Given the description of an element on the screen output the (x, y) to click on. 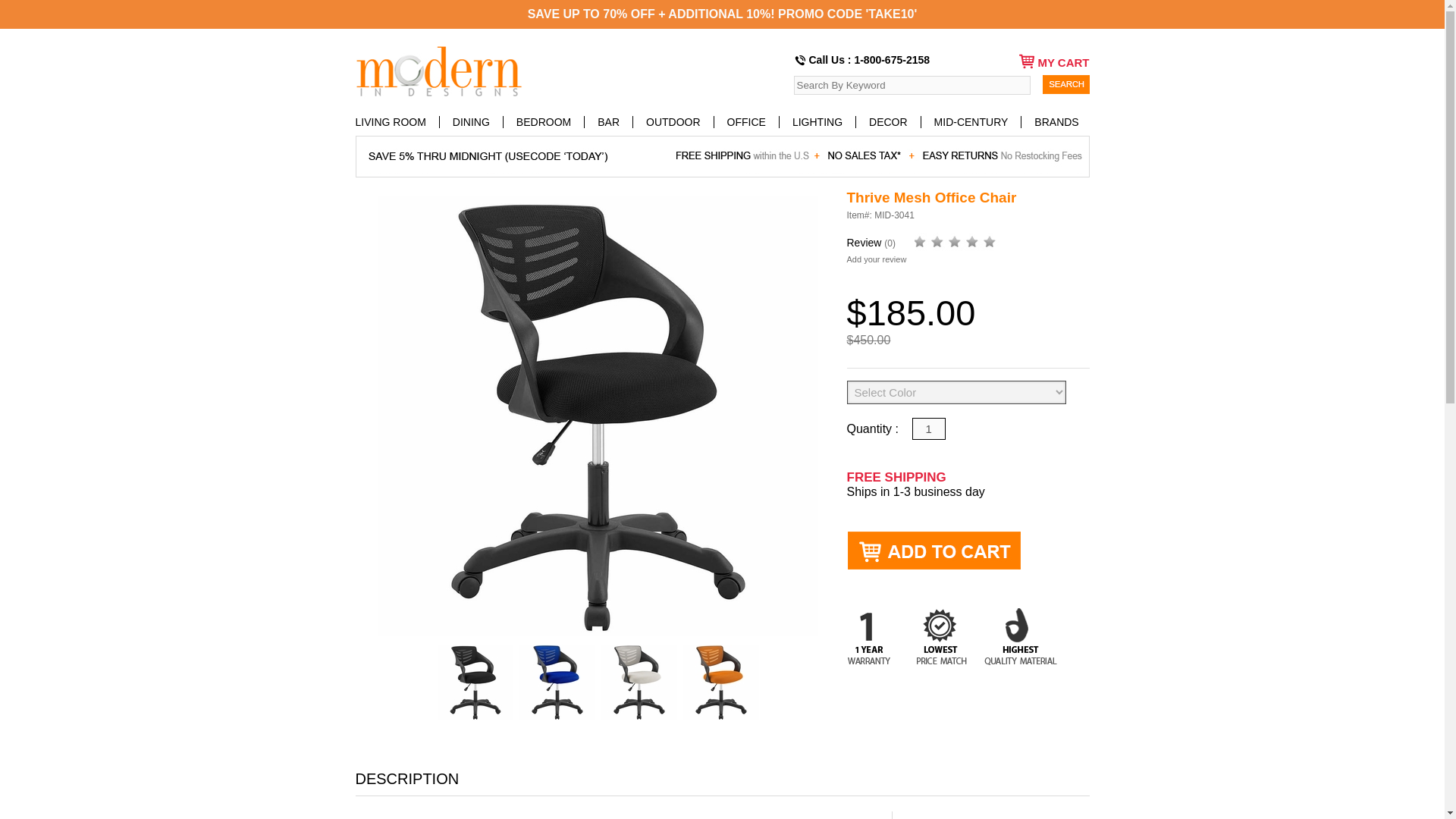
Living Room (397, 121)
LIVING ROOM (397, 121)
Dining (471, 121)
1 (928, 428)
DINING (471, 121)
MY CART (1045, 61)
BEDROOM (544, 121)
BAR (609, 121)
